Given the description of an element on the screen output the (x, y) to click on. 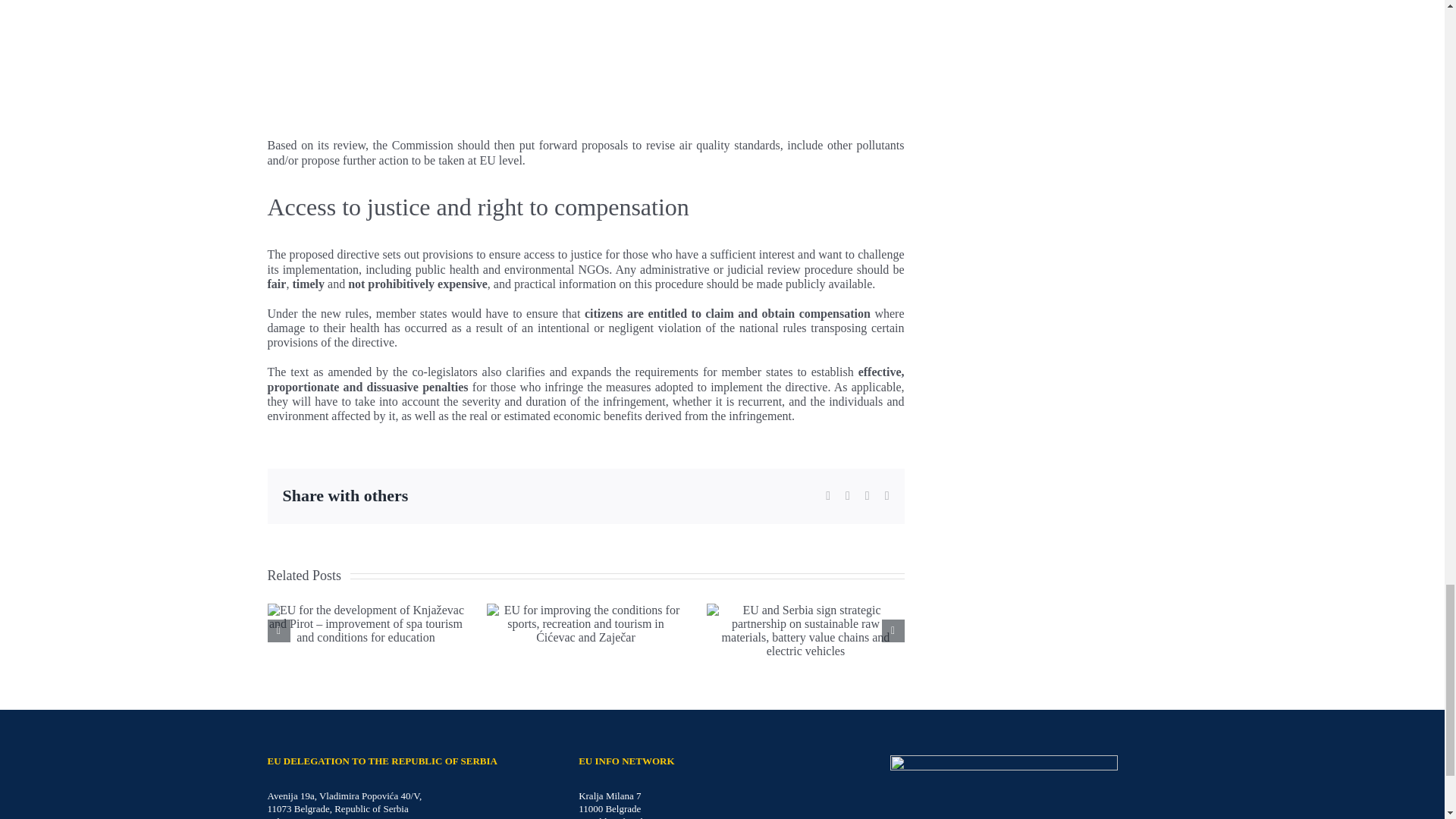
YouTube player (721, 69)
